Given the description of an element on the screen output the (x, y) to click on. 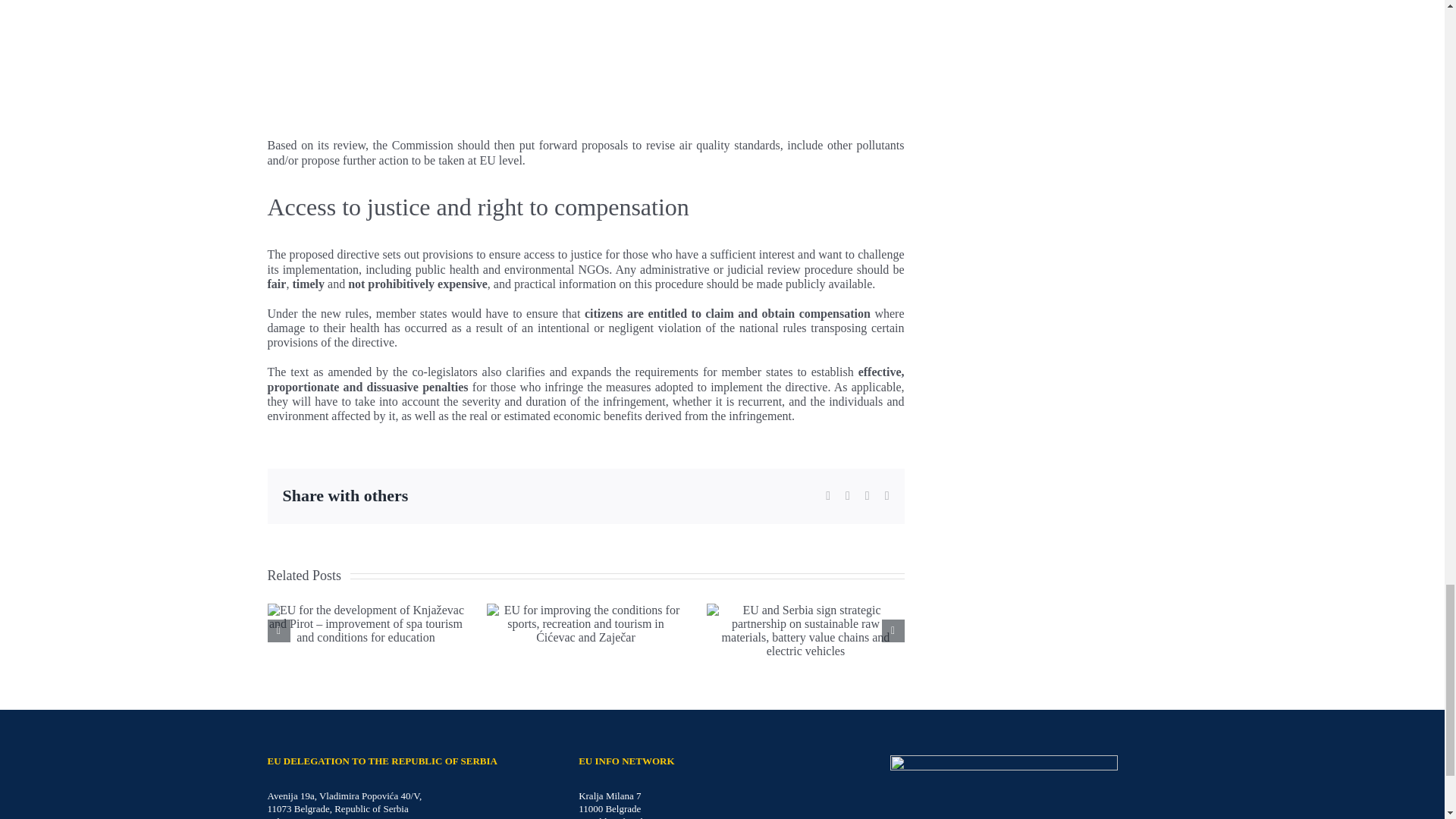
YouTube player (721, 69)
